Given the description of an element on the screen output the (x, y) to click on. 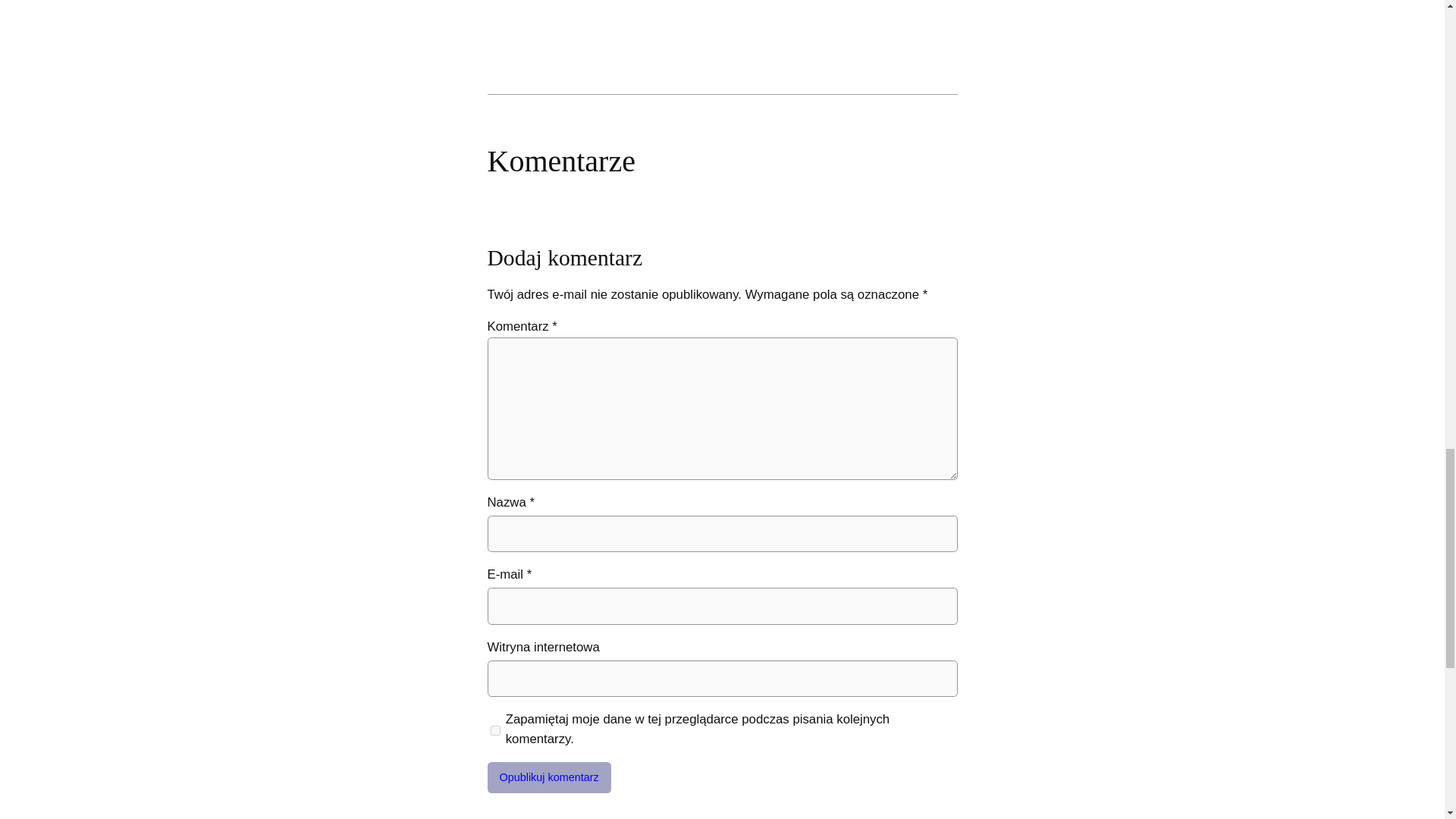
Opublikuj komentarz (548, 777)
Opublikuj komentarz (548, 777)
yes (494, 730)
